Given the description of an element on the screen output the (x, y) to click on. 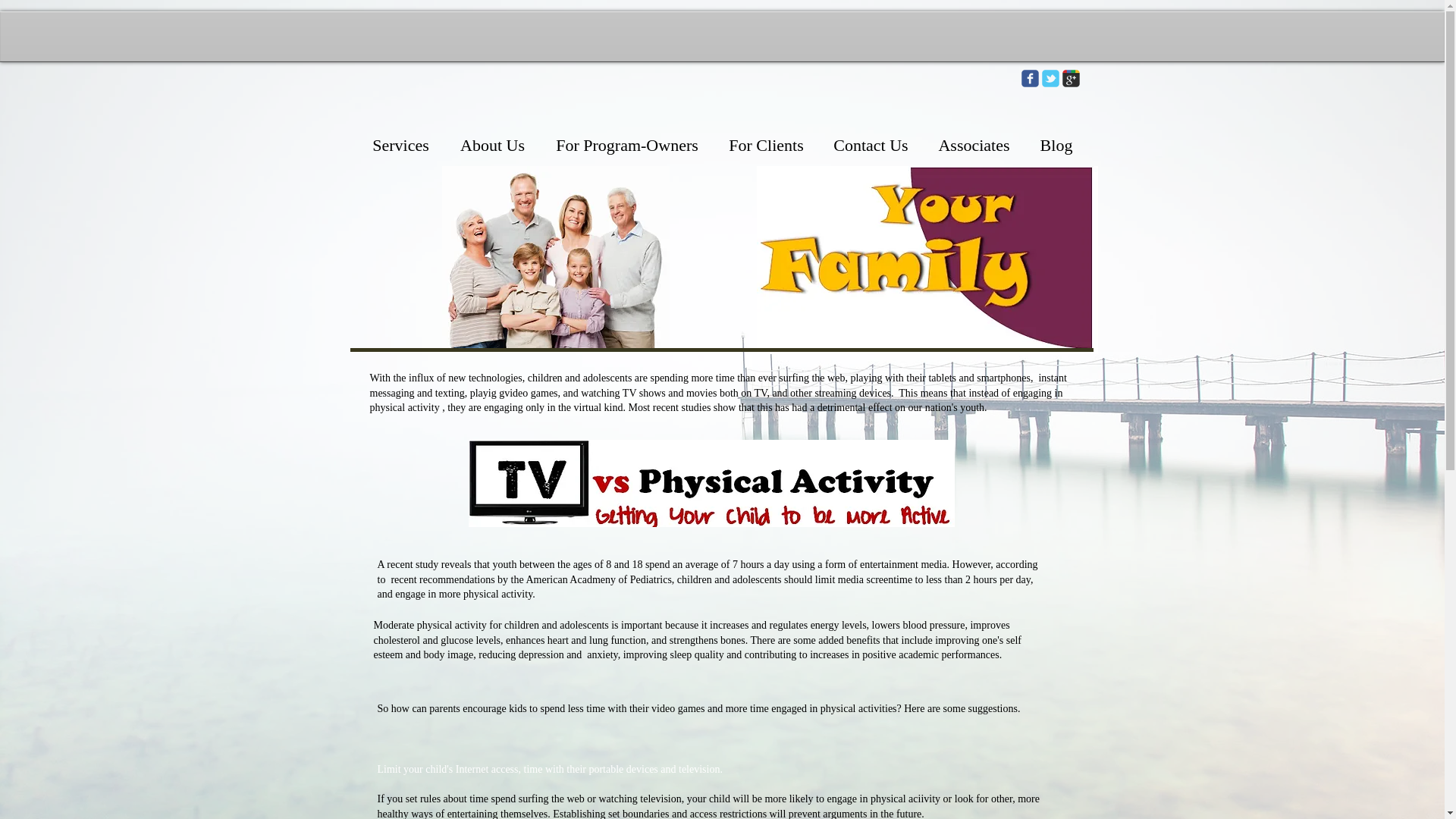
Blog (1056, 145)
For Program-Owners (626, 145)
Contact Us (870, 145)
About Us (492, 145)
Services (400, 145)
For Clients (766, 145)
Associates (974, 145)
